Given the description of an element on the screen output the (x, y) to click on. 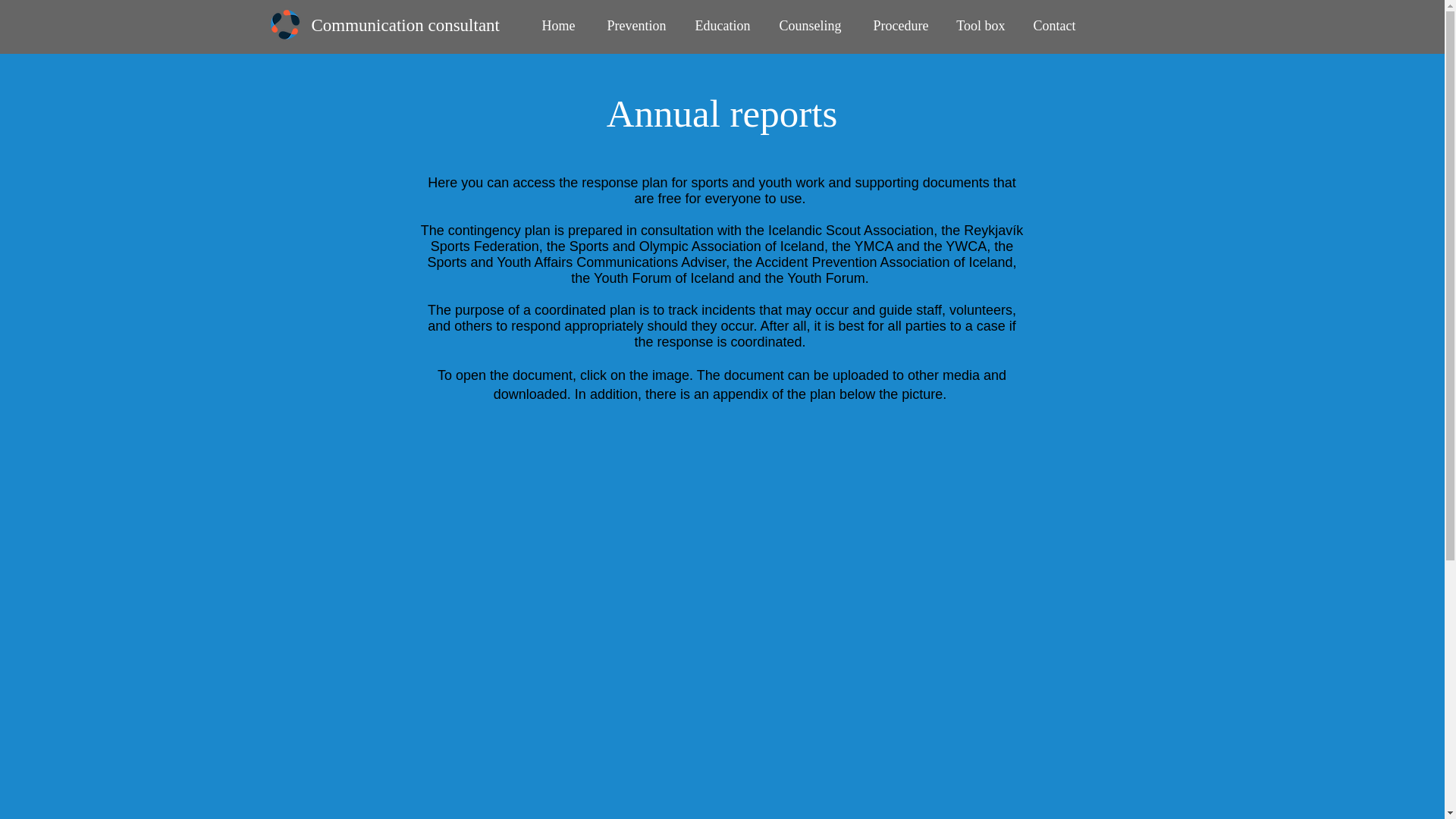
Prevention (632, 26)
Tool box (978, 26)
Communication consultant (405, 25)
Counseling (806, 26)
Education (719, 26)
Procedure (895, 26)
Home (555, 26)
Contact (1051, 26)
